Given the description of an element on the screen output the (x, y) to click on. 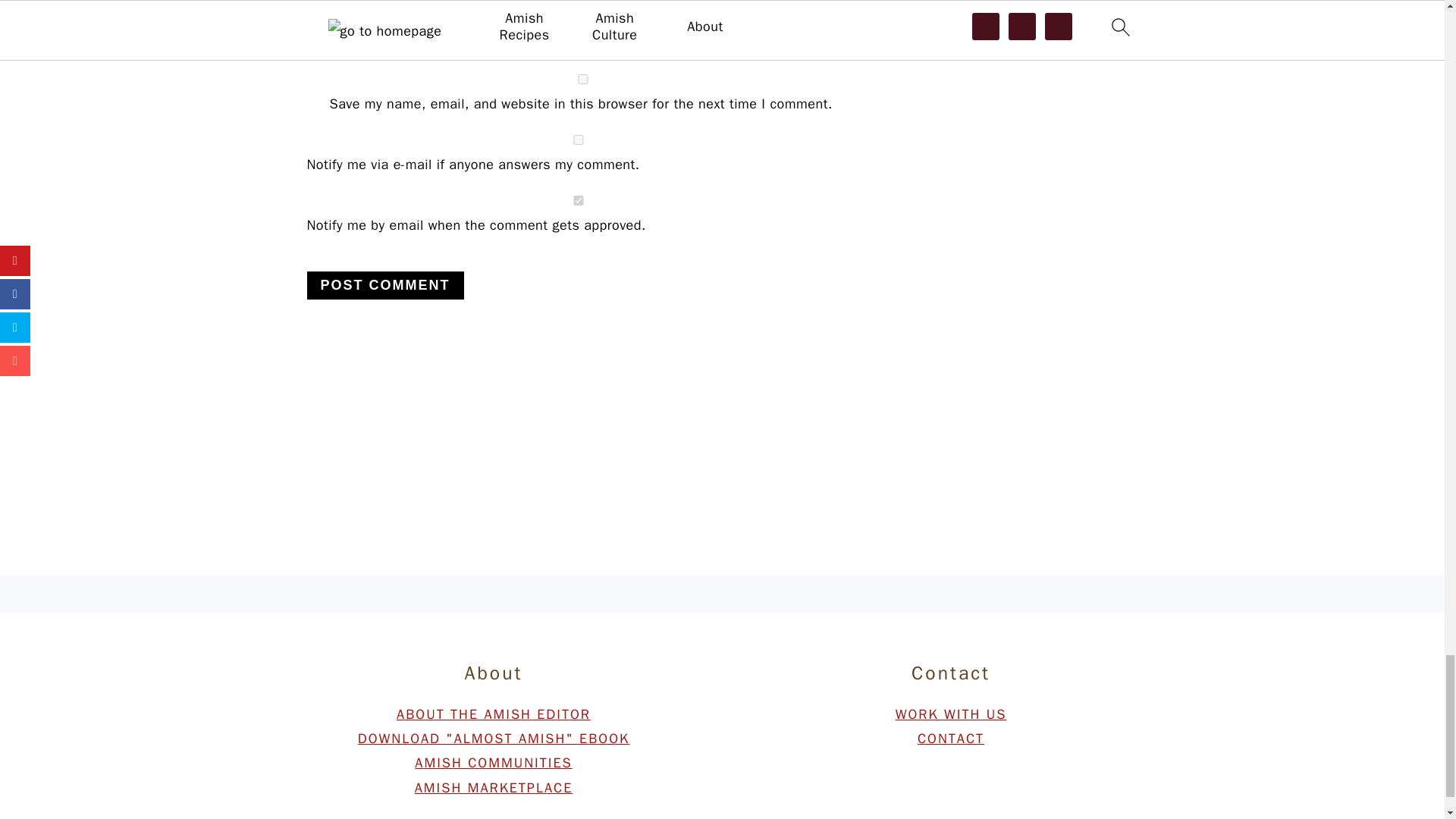
Post Comment (384, 285)
1 (576, 200)
on (576, 139)
yes (582, 79)
